Given the description of an element on the screen output the (x, y) to click on. 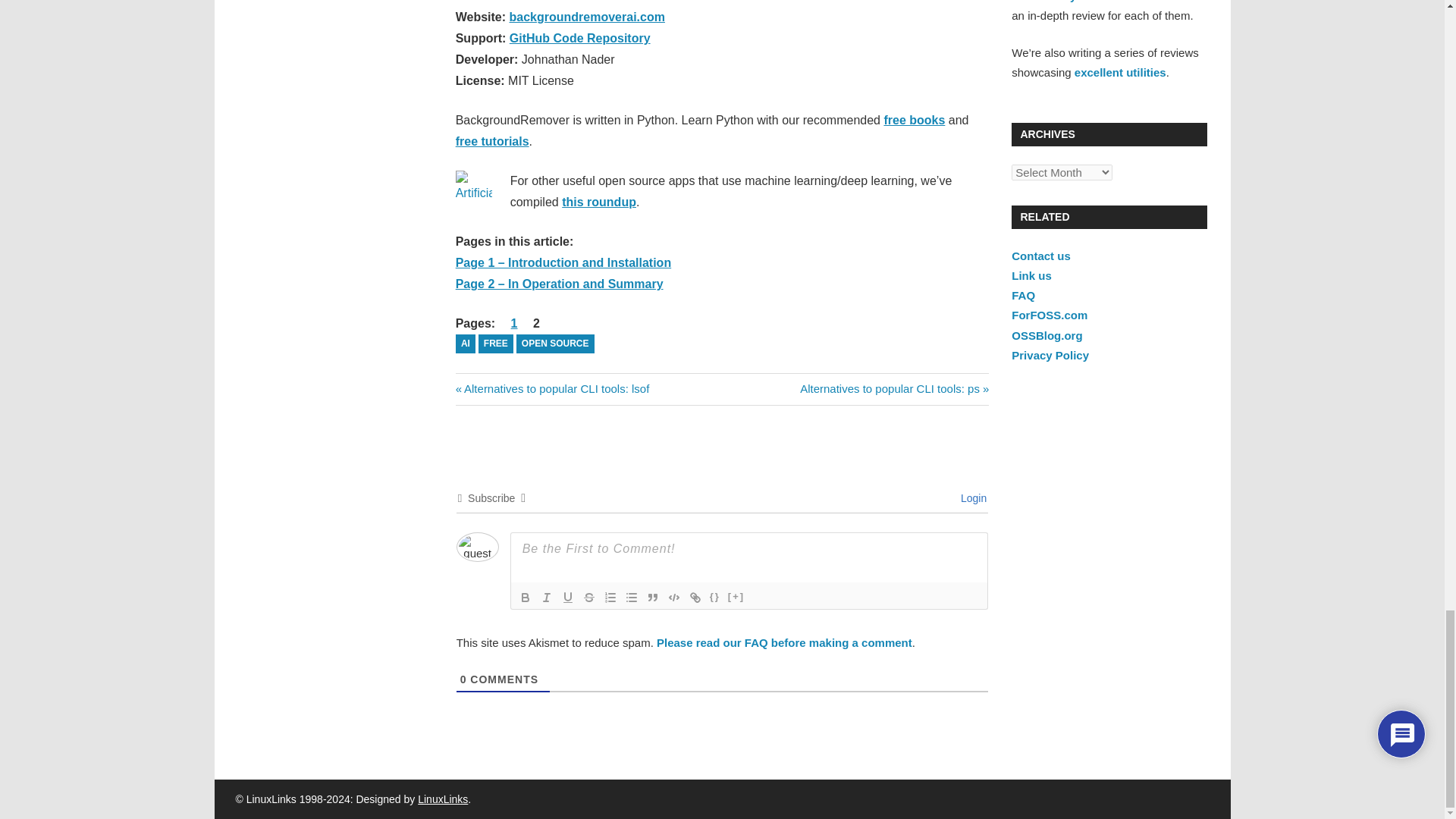
Link (695, 597)
this roundup (599, 201)
OPEN SOURCE (555, 343)
backgroundremoverai.com (587, 16)
Source Code (714, 597)
FREE (496, 343)
Italic (546, 597)
Code Block (673, 597)
GitHub Code Repository (579, 38)
Blockquote (652, 597)
